Given the description of an element on the screen output the (x, y) to click on. 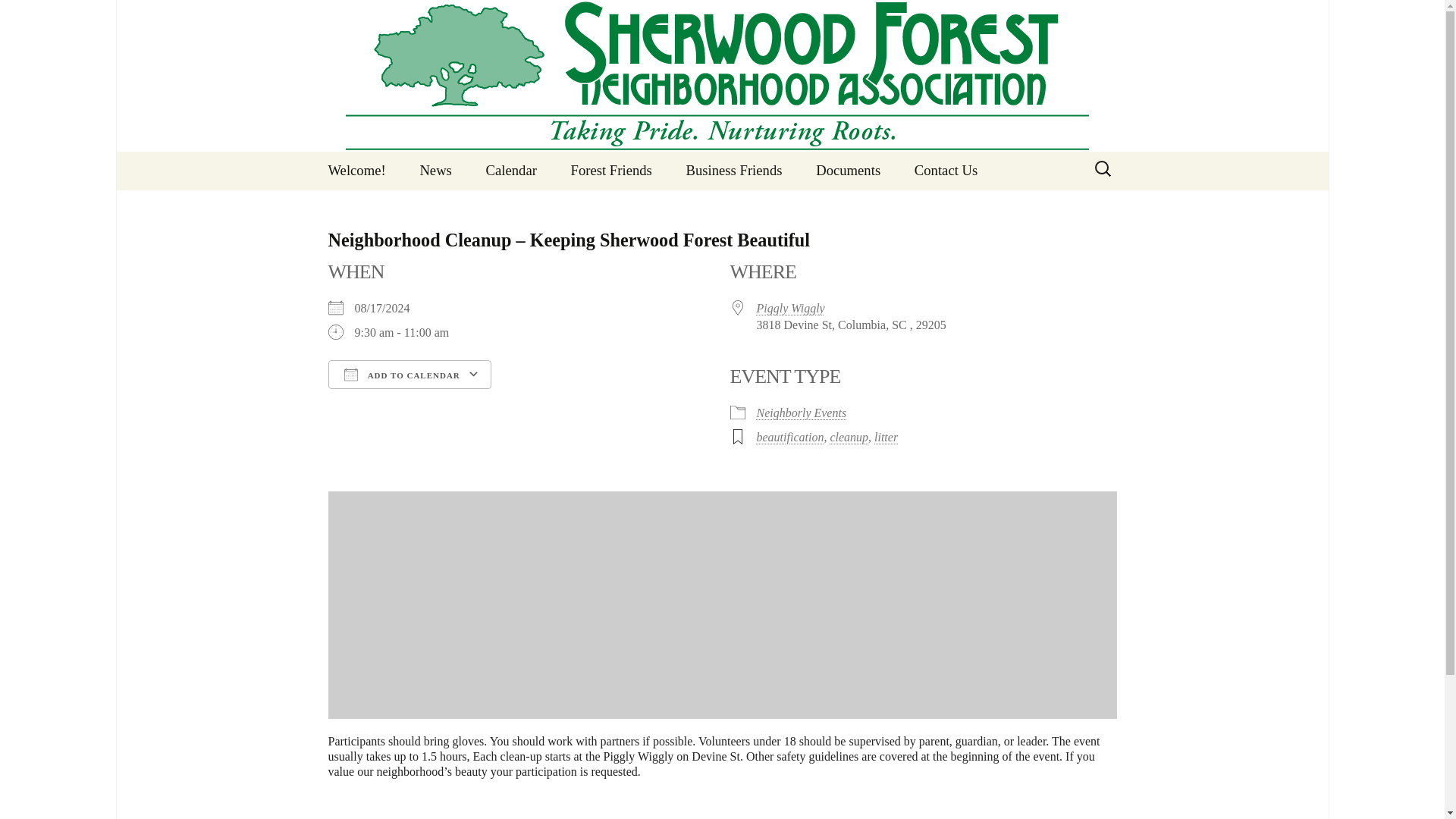
Business Friends (734, 170)
Calendar (510, 170)
beautification (790, 436)
Download ICS (344, 401)
cleanup (848, 436)
News (435, 170)
Join SFNA! (975, 209)
litter (886, 436)
Newsletter (480, 209)
Documents (847, 170)
Business Friends Program (746, 217)
Contact Us (945, 170)
Welcome! (356, 170)
Piggly Wiggly (791, 308)
